Given the description of an element on the screen output the (x, y) to click on. 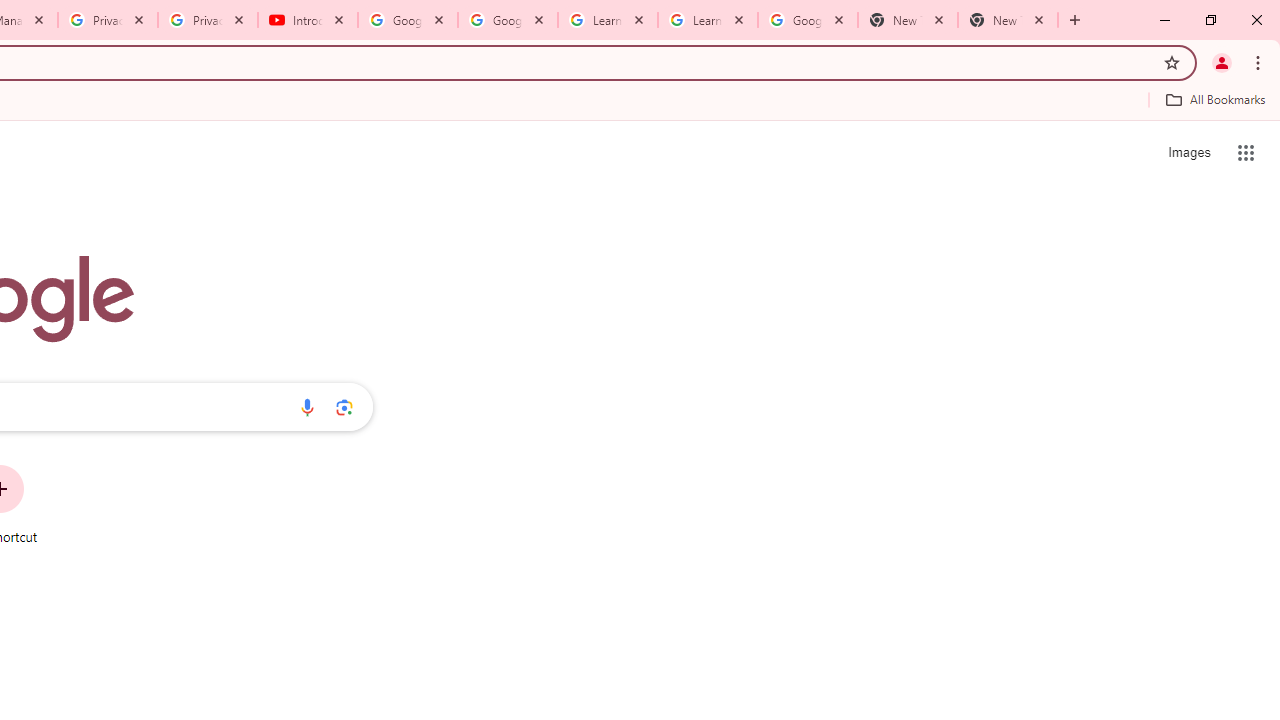
Introduction | Google Privacy Policy - YouTube (308, 20)
New Tab (1007, 20)
